Given the description of an element on the screen output the (x, y) to click on. 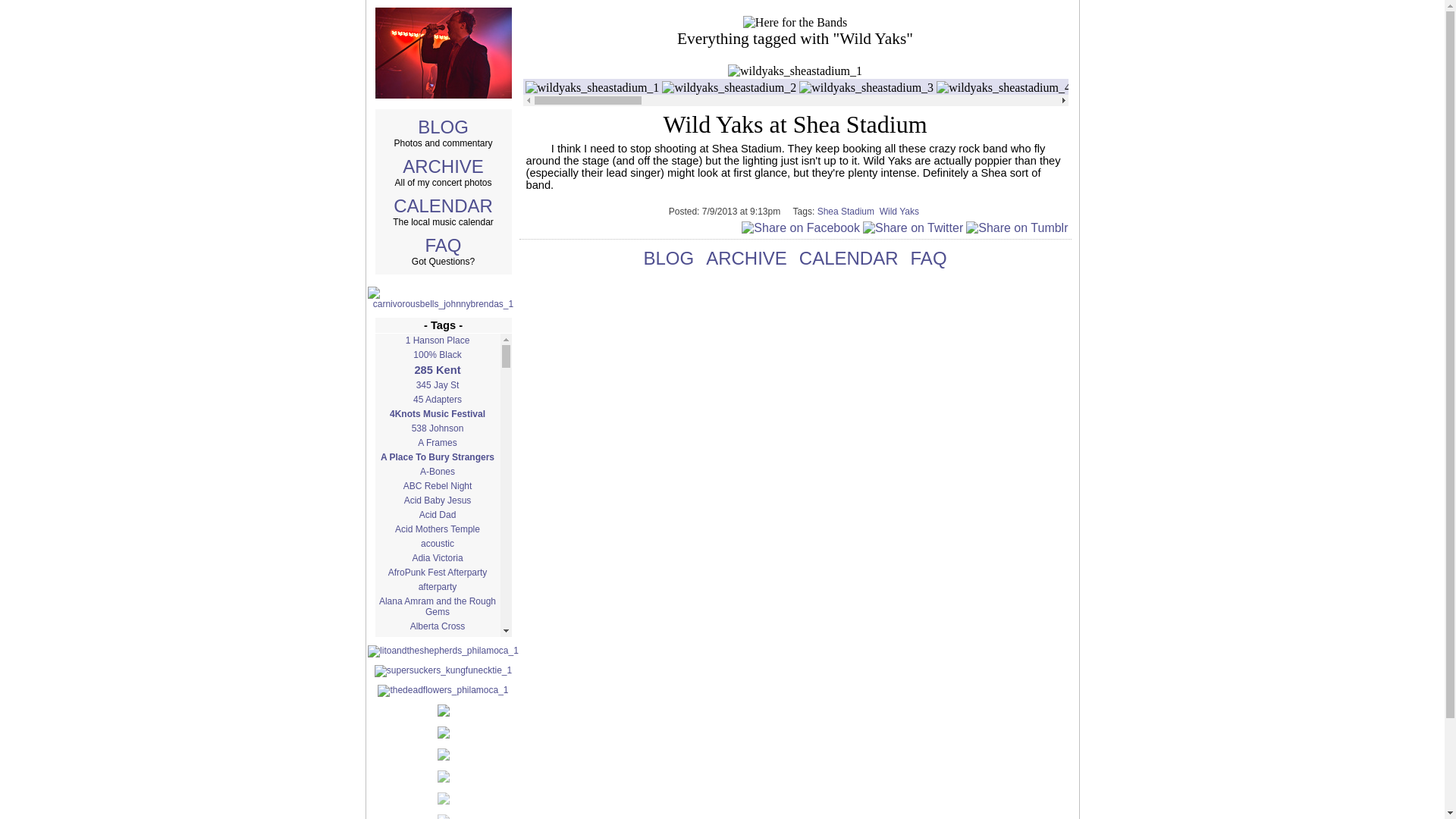
AfroPunk Fest Afterparty (436, 572)
HereForTheBands (794, 22)
45 Adapters (436, 399)
album release (436, 640)
Andre Williams (436, 791)
Algiers (436, 708)
Alana Amram and the Rough Gems (436, 606)
538 Johnson (436, 427)
1 Hanson Place (436, 340)
ABC Rebel Night (436, 486)
